Given the description of an element on the screen output the (x, y) to click on. 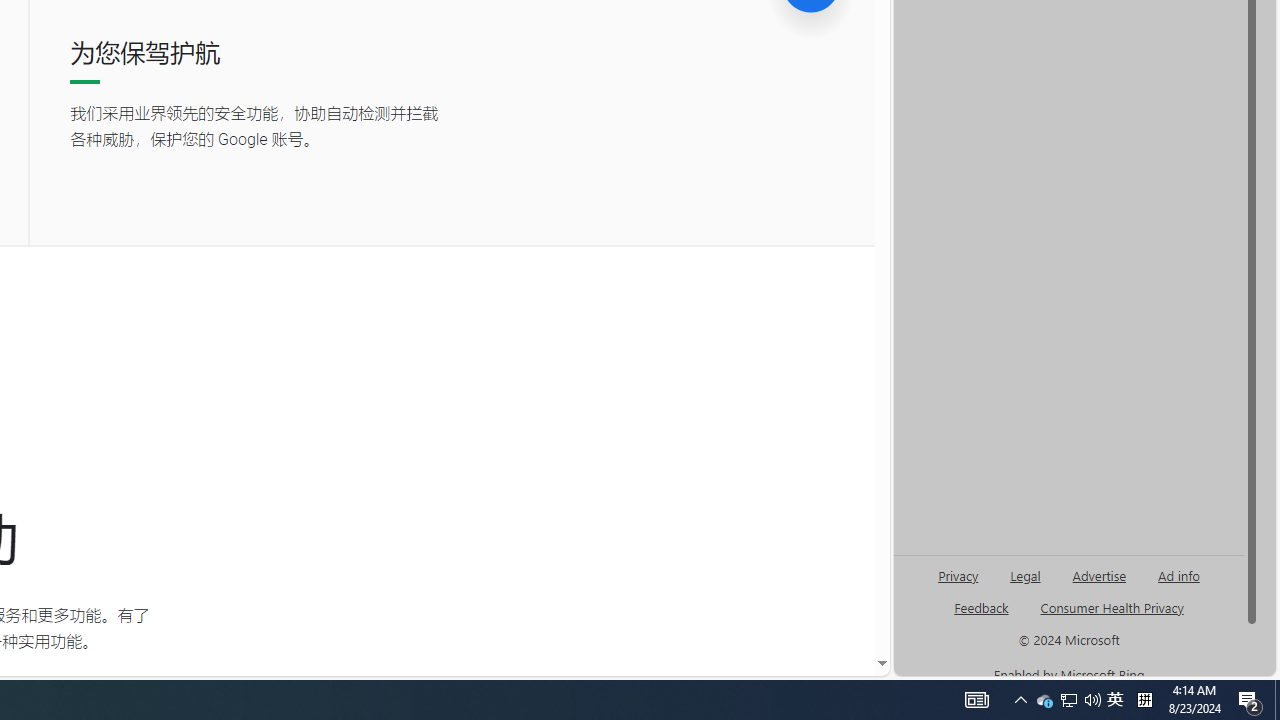
AutomationID: sb_feedback (980, 607)
AutomationID: genId96 (981, 615)
